Given the description of an element on the screen output the (x, y) to click on. 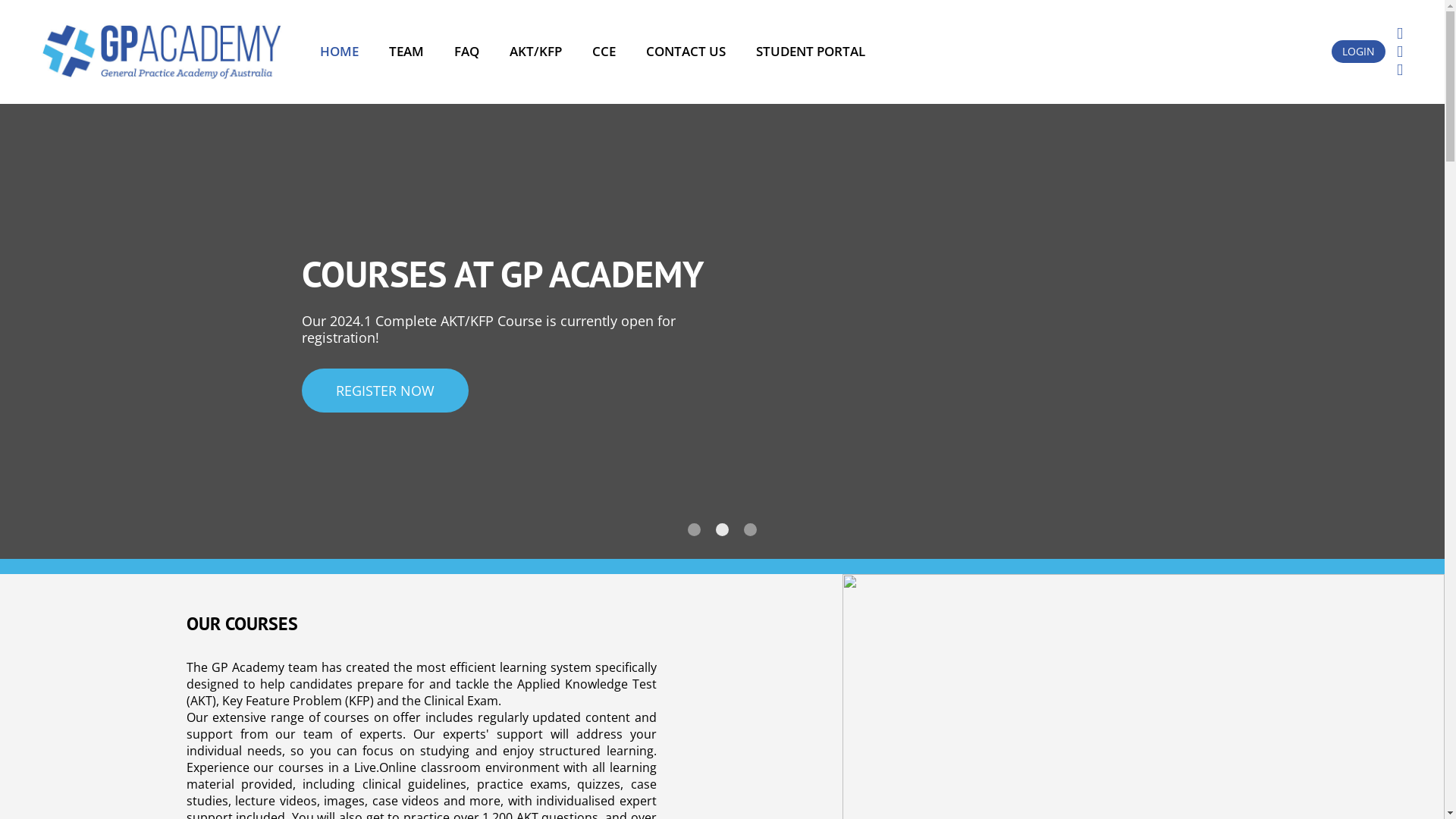
REGISTER NOW Element type: text (902, 390)
LOGIN Element type: text (1358, 51)
HOME Element type: text (339, 50)
CCE Element type: text (603, 50)
Follow us on Instagram Element type: hover (1399, 68)
CONTACT US Element type: text (685, 50)
AKT/KFP Element type: text (535, 50)
TEAM Element type: text (406, 50)
STUDENT PORTAL Element type: text (810, 50)
Follow us on Twitter Element type: hover (1399, 50)
Follow us on Facebook Element type: hover (1399, 32)
FAQ Element type: text (466, 50)
